Given the description of an element on the screen output the (x, y) to click on. 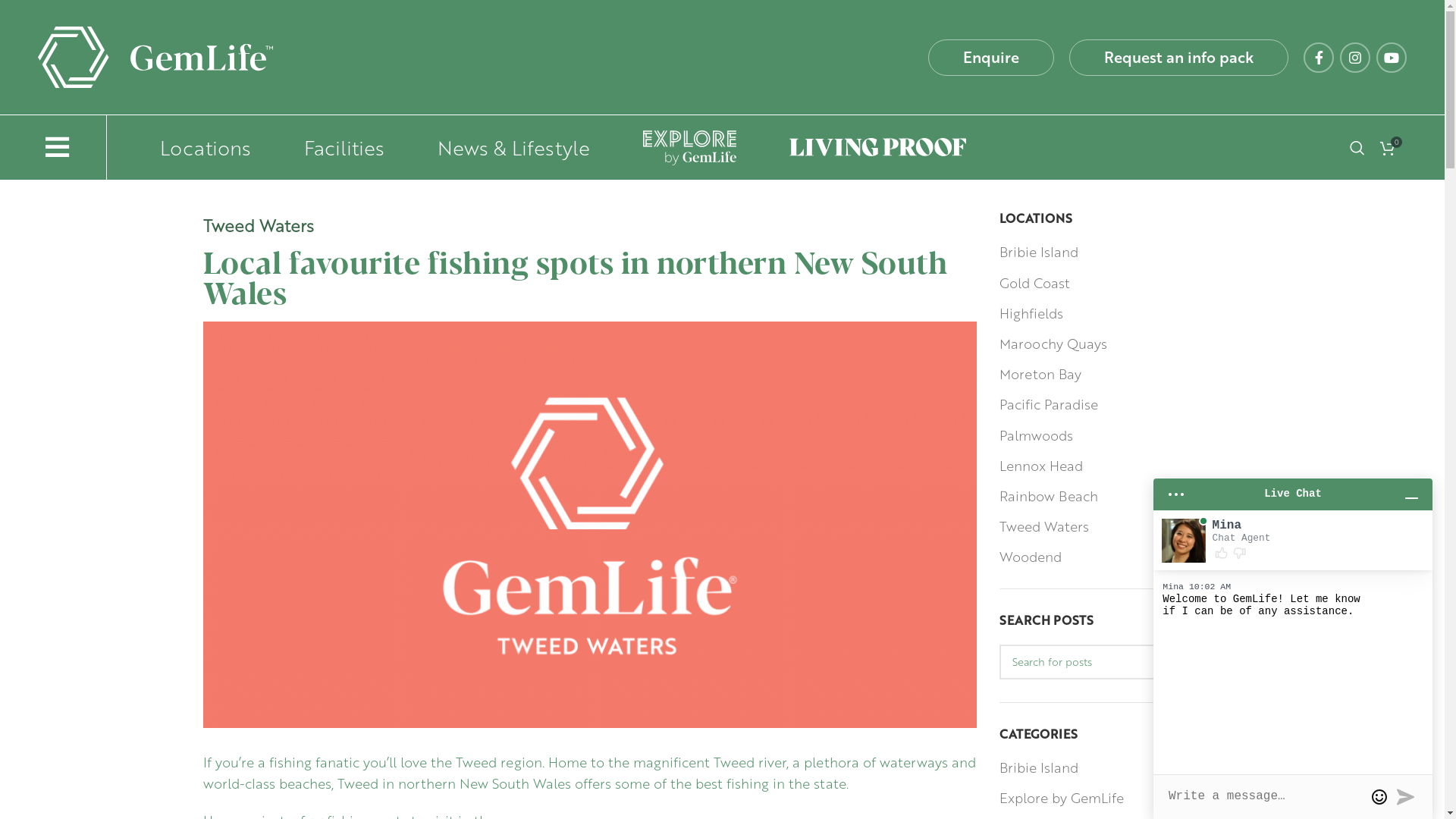
Request an info pack Element type: text (1178, 57)
Bribie Island Element type: text (1039, 766)
News & Lifestyle Element type: text (494, 147)
Search for posts Element type: hover (1120, 661)
Woodend Element type: text (1031, 555)
Rainbow Beach Element type: text (1049, 495)
Locations Element type: text (186, 147)
Tweed Waters Element type: text (258, 225)
Tweed Waters Element type: text (1044, 525)
Explore by GemLife Element type: text (1062, 796)
Gold Coast Element type: text (1035, 282)
Highfields Element type: text (1031, 312)
Lennox Head Element type: text (1041, 464)
Subscribe Element type: text (1044, 515)
Maroochy Quays Element type: text (1053, 342)
Bribie Island Element type: text (1039, 250)
Palmwoods Element type: text (1036, 434)
0 Element type: text (1387, 146)
Moreton Bay Element type: text (1040, 373)
Search Element type: hover (1357, 146)
Facilities Element type: text (325, 147)
SEARCH Element type: text (1224, 661)
Pacific Paradise Element type: text (1049, 403)
Enquire Element type: text (991, 57)
